Given the description of an element on the screen output the (x, y) to click on. 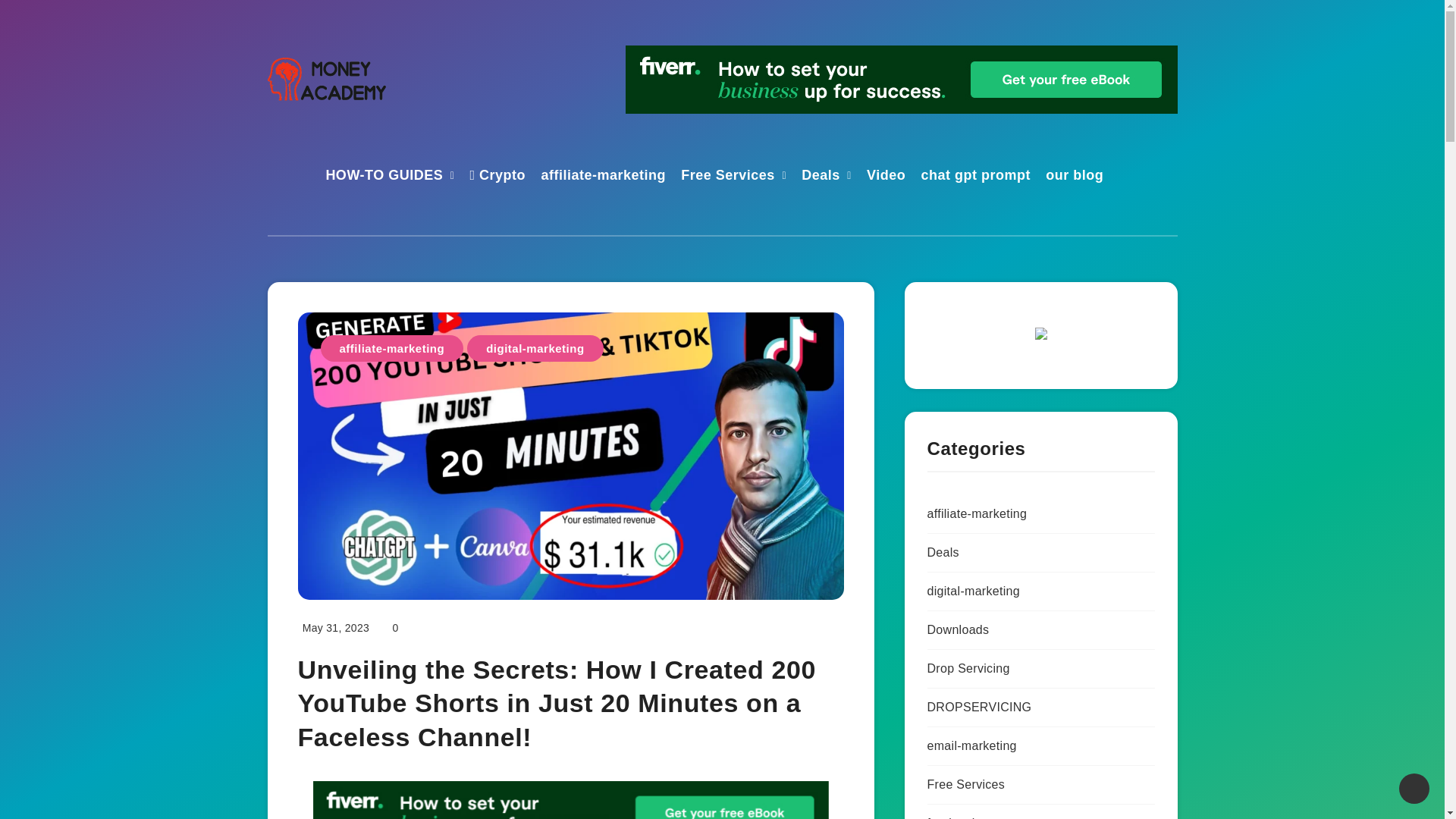
digital-marketing (534, 347)
Free Services (727, 177)
Video (885, 177)
our blog (1074, 177)
HOW-TO GUIDES (383, 177)
Deals (821, 177)
affiliate-marketing (602, 177)
chat gpt prompt (975, 177)
affiliate-marketing (391, 347)
